Given the description of an element on the screen output the (x, y) to click on. 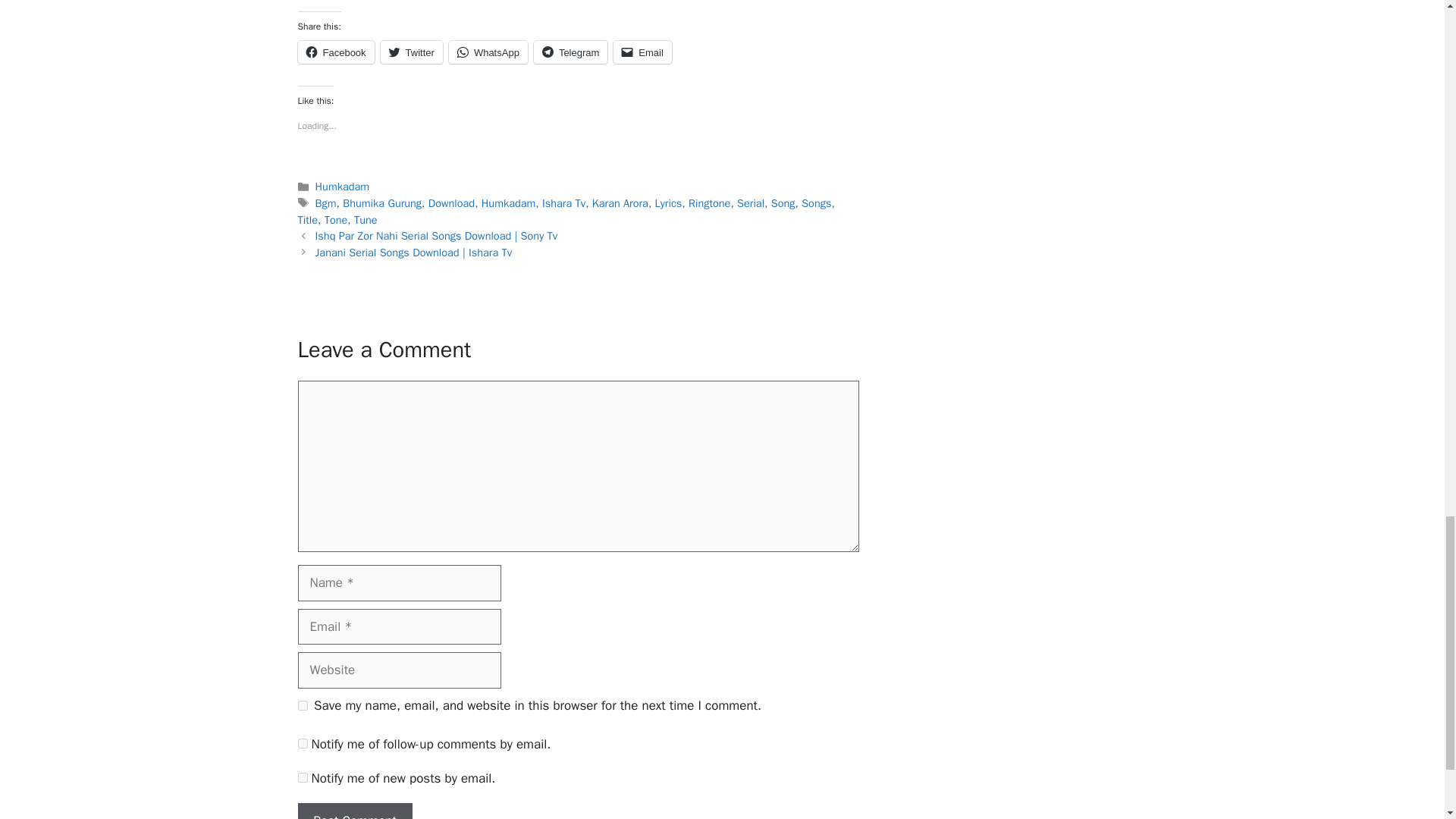
Post Comment (354, 810)
Ishara Tv (563, 202)
Download (451, 202)
subscribe (302, 777)
subscribe (302, 743)
Tune (365, 219)
Facebook (335, 51)
Click to share on Twitter (411, 51)
Serial (750, 202)
Telegram (570, 51)
